Given the description of an element on the screen output the (x, y) to click on. 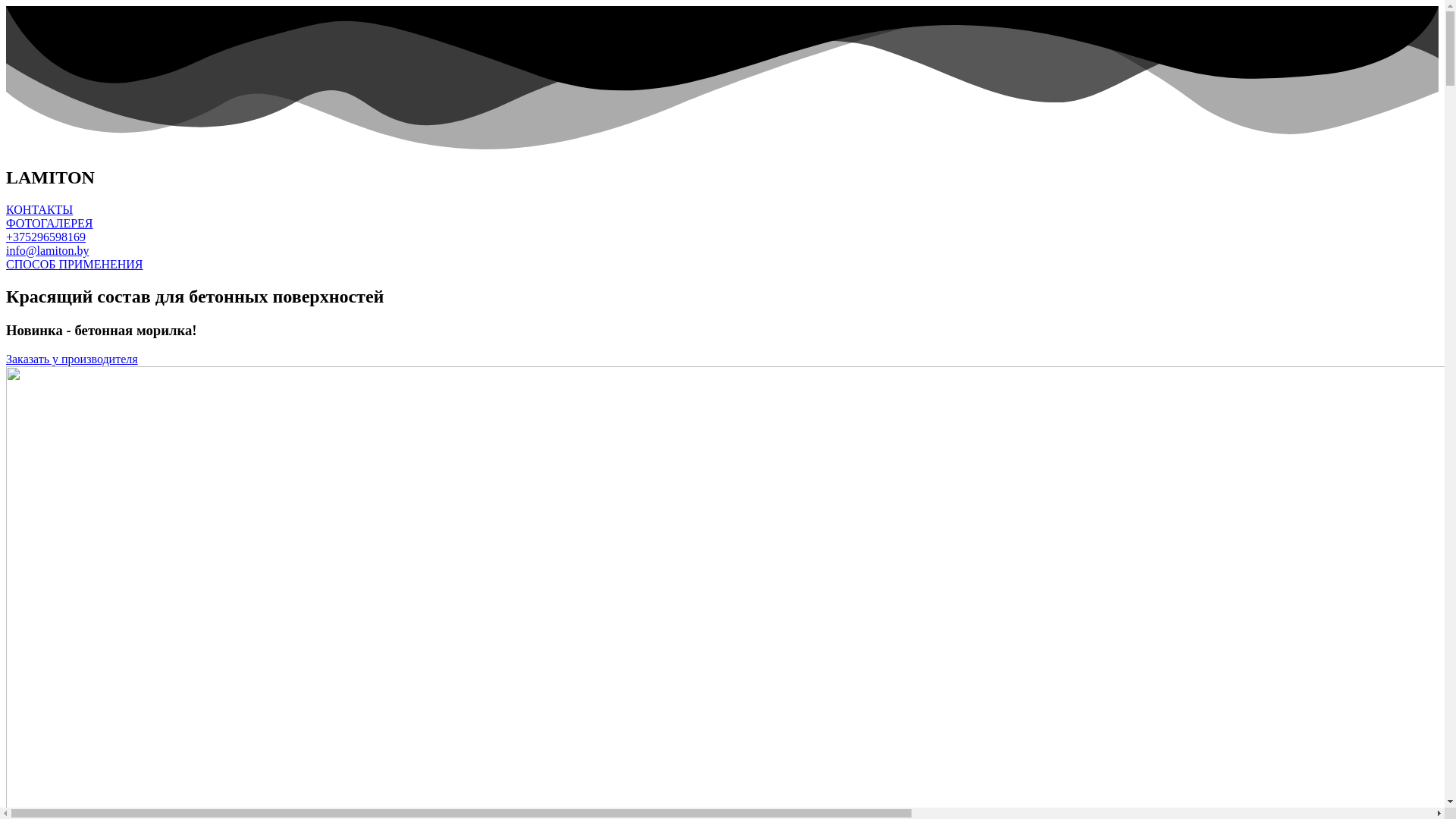
info@lamiton.by Element type: text (47, 250)
+375296598169 Element type: text (45, 236)
